Given the description of an element on the screen output the (x, y) to click on. 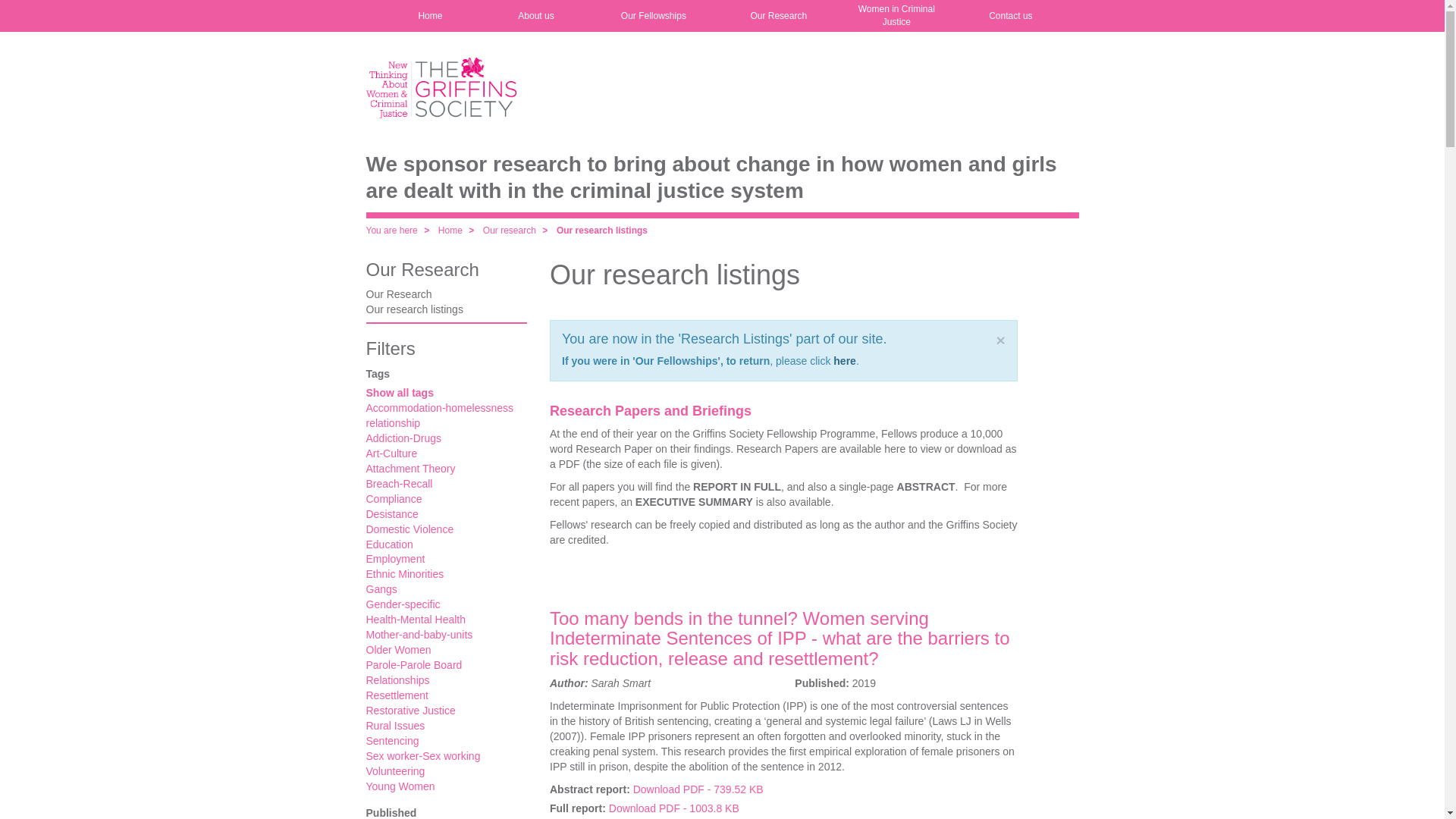
About us (535, 16)
Women in Criminal Justice (895, 15)
Our Research (446, 294)
Our research (509, 230)
Home (450, 230)
Our Research (777, 16)
Addiction-Drugs (403, 438)
Our Fellowships (654, 16)
Our research listings (446, 309)
Contact us (1010, 16)
Home (440, 86)
Home (430, 16)
Our Research (422, 269)
Show all tags (398, 392)
